Given the description of an element on the screen output the (x, y) to click on. 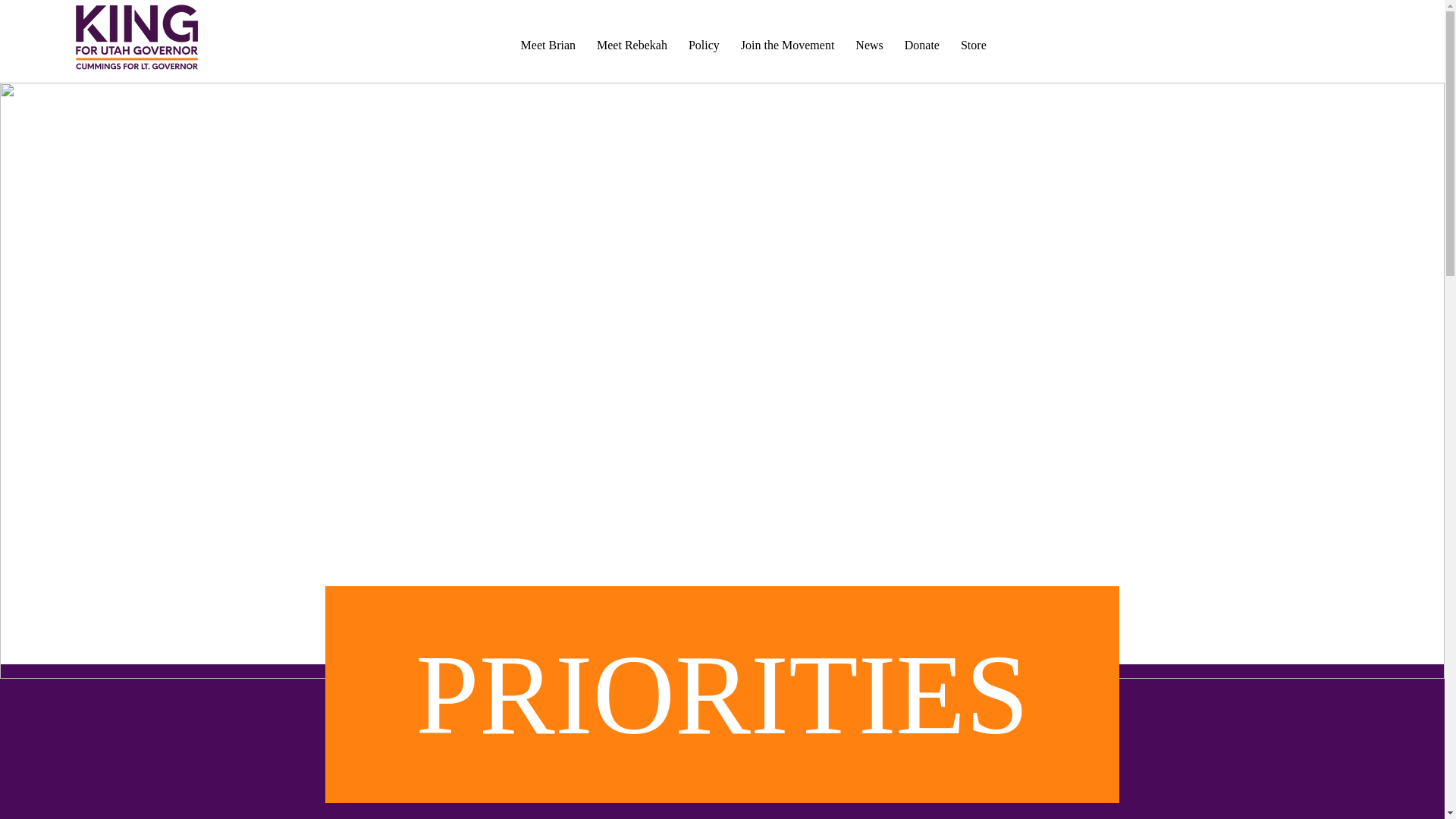
Policy (703, 45)
Store (973, 45)
News (868, 45)
Meet Rebekah (632, 45)
Donate (921, 45)
Meet Brian (548, 45)
Join the Movement (788, 45)
